Given the description of an element on the screen output the (x, y) to click on. 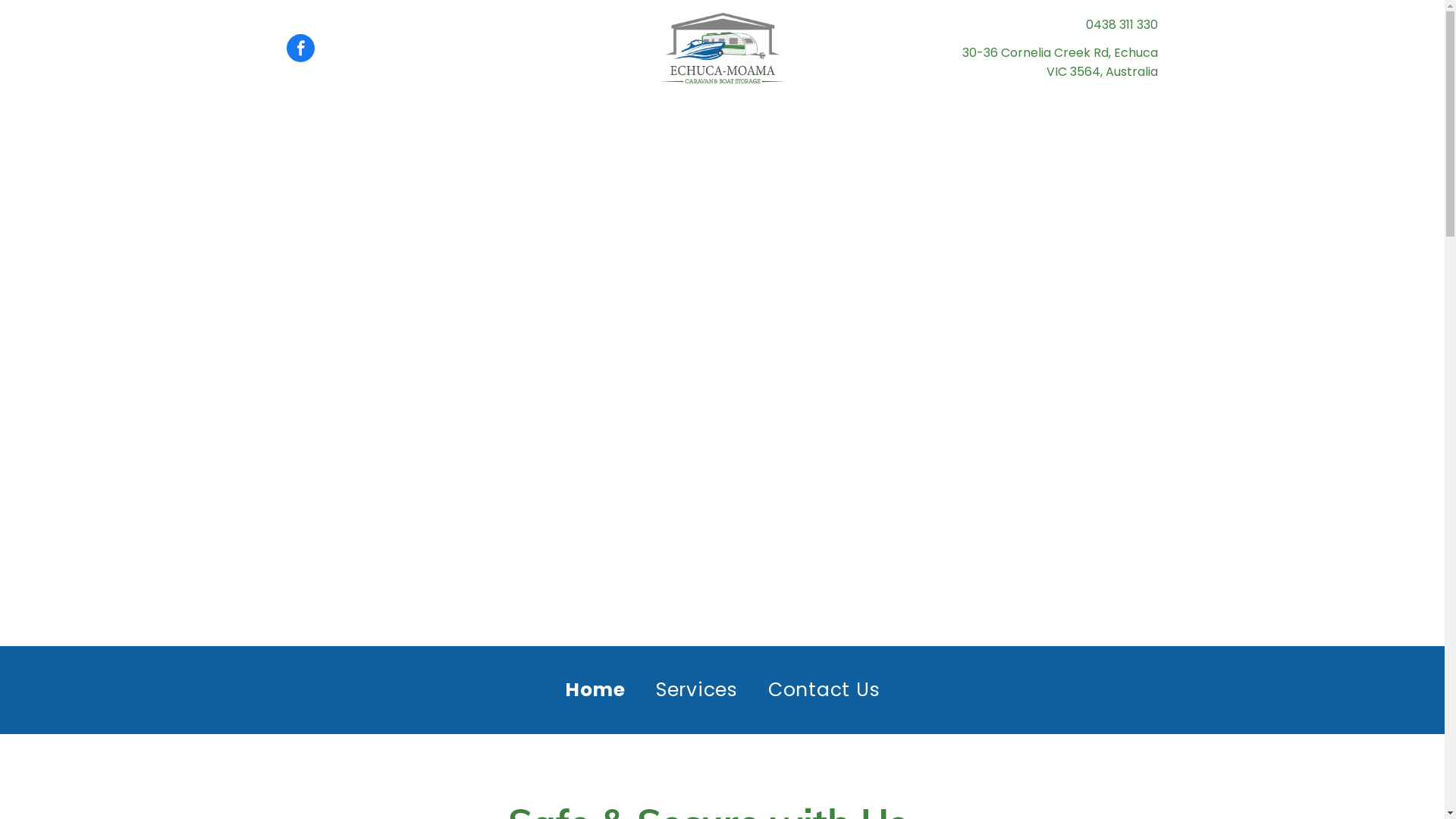
30-36 Cornelia Creek Rd, Echuca VIC 3564, Australia Element type: text (1059, 61)
Services Element type: text (696, 689)
Home Element type: text (594, 689)
Contact Us Element type: text (824, 689)
0438 311 330 Element type: text (1121, 24)
